Given the description of an element on the screen output the (x, y) to click on. 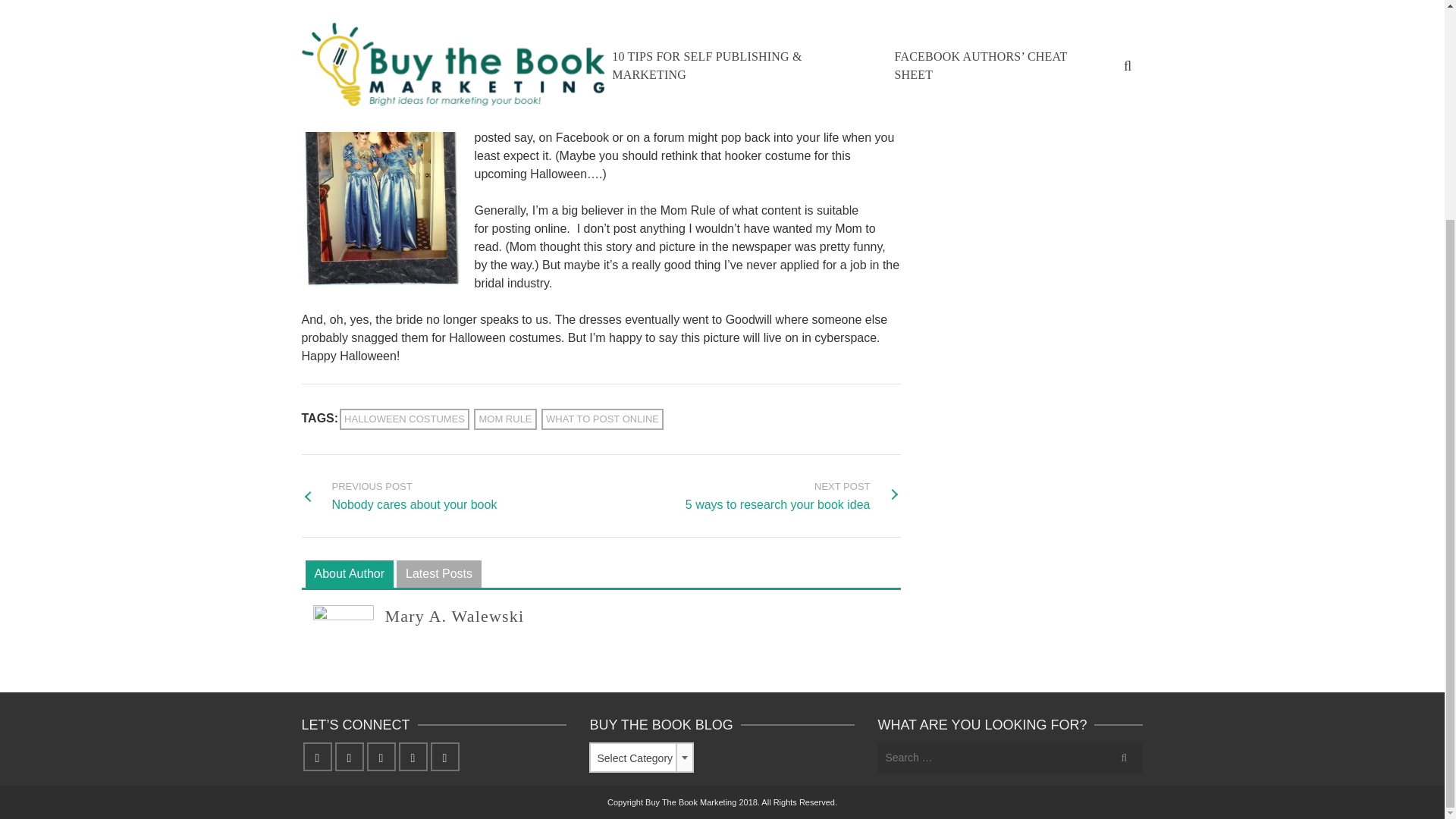
Select Category (1001, 106)
HALLOWEEN COSTUMES (399, 495)
Mary A. Walewski (793, 495)
MOM RULE (403, 418)
WHAT TO POST ONLINE (454, 615)
Latest Posts (504, 418)
Video: The New Normal of Book Launches (602, 418)
Posts by Mary A. Walewski (438, 574)
About Author (1045, 17)
